Given the description of an element on the screen output the (x, y) to click on. 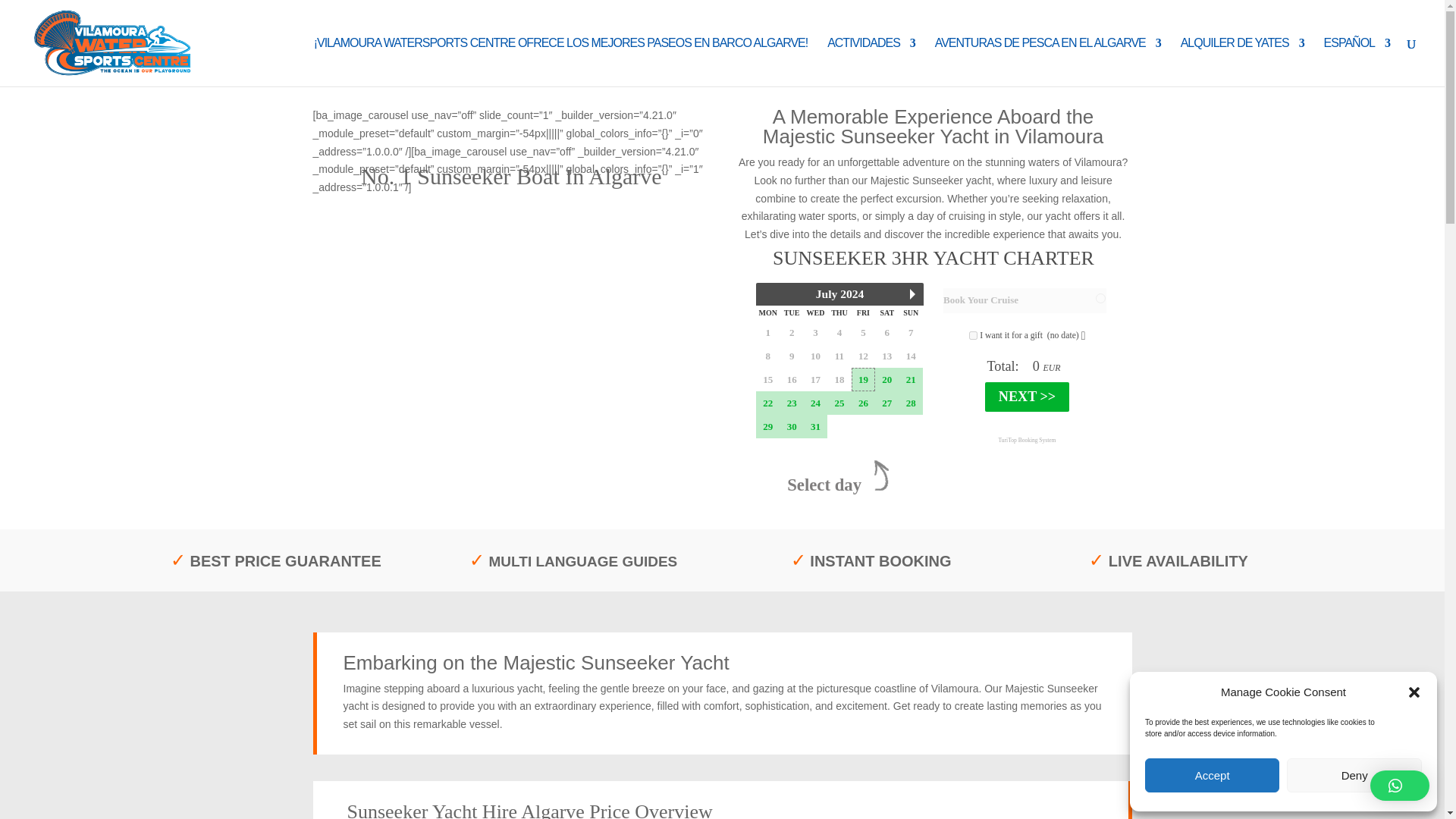
Accept (1211, 775)
AVENTURAS DE PESCA EN EL ALGARVE (1047, 61)
ALQUILER DE YATES (1242, 61)
ACTIVIDADES (871, 61)
Deny (1354, 775)
